Given the description of an element on the screen output the (x, y) to click on. 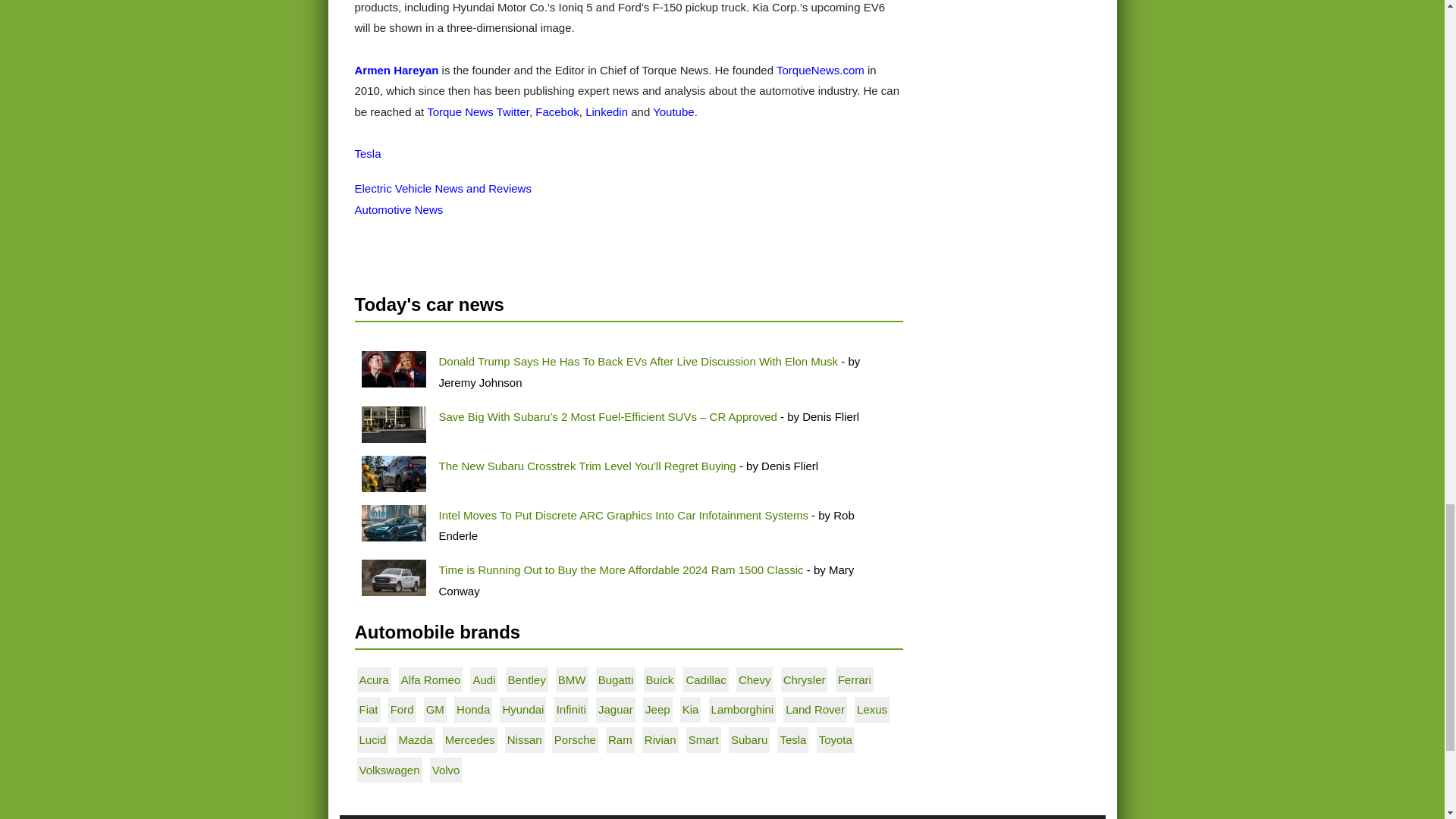
Facebok (557, 111)
Linkedin (606, 111)
Youtube (673, 111)
Automotive News (399, 209)
The New Subaru Crosstrek Trim Level You'll Regret Buying (586, 465)
2024 Subaru Crosstrek Base trim rear view (393, 473)
Tesla (368, 153)
